Given the description of an element on the screen output the (x, y) to click on. 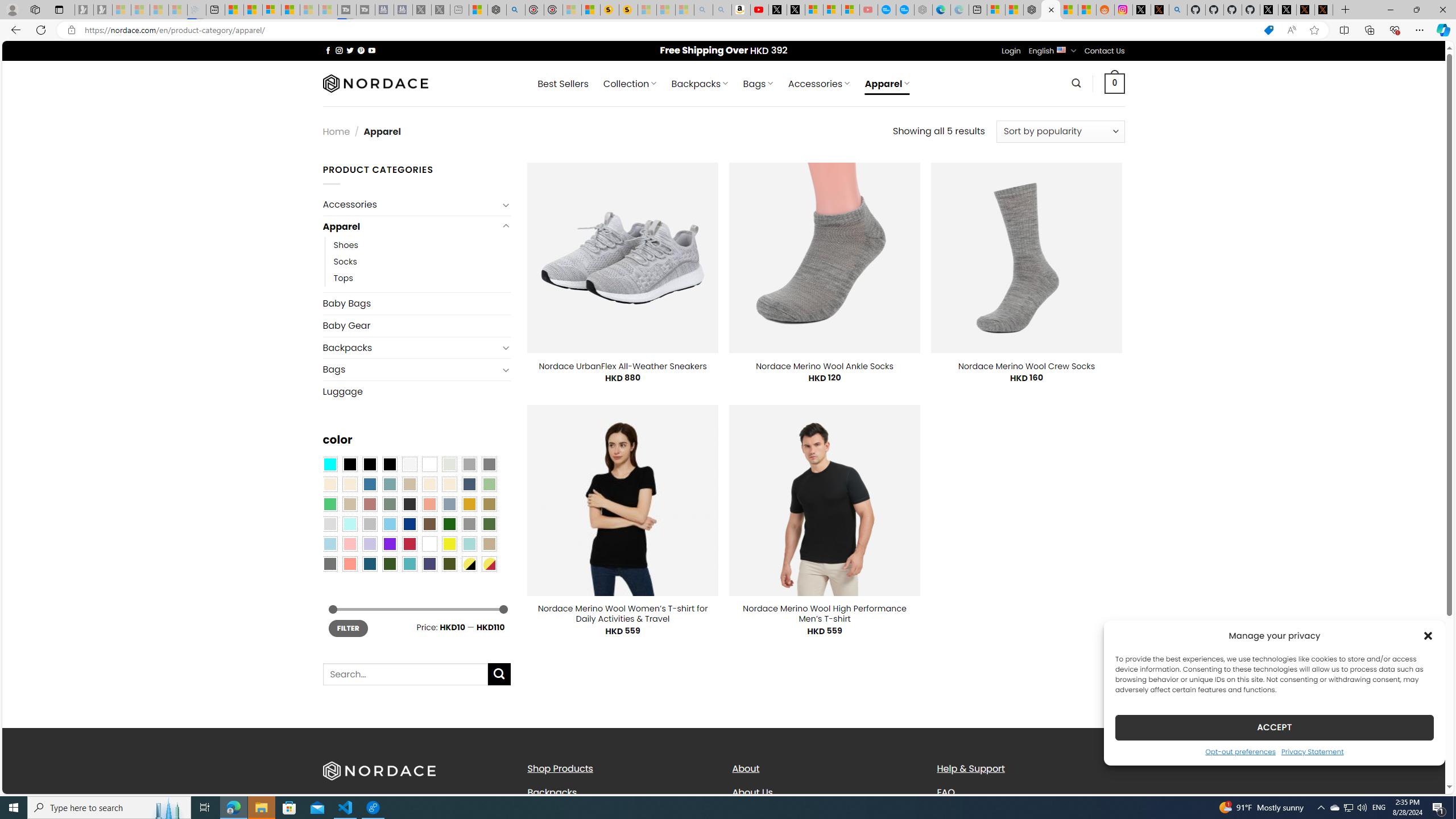
Beige (329, 483)
Hale Navy (468, 483)
Shoes (345, 245)
FILTER (347, 628)
Cream (449, 483)
Bags (410, 369)
Pink (349, 543)
Navy Blue (408, 523)
Dark Gray (468, 464)
Submit (499, 674)
Red (408, 543)
About Us (752, 792)
